Given the description of an element on the screen output the (x, y) to click on. 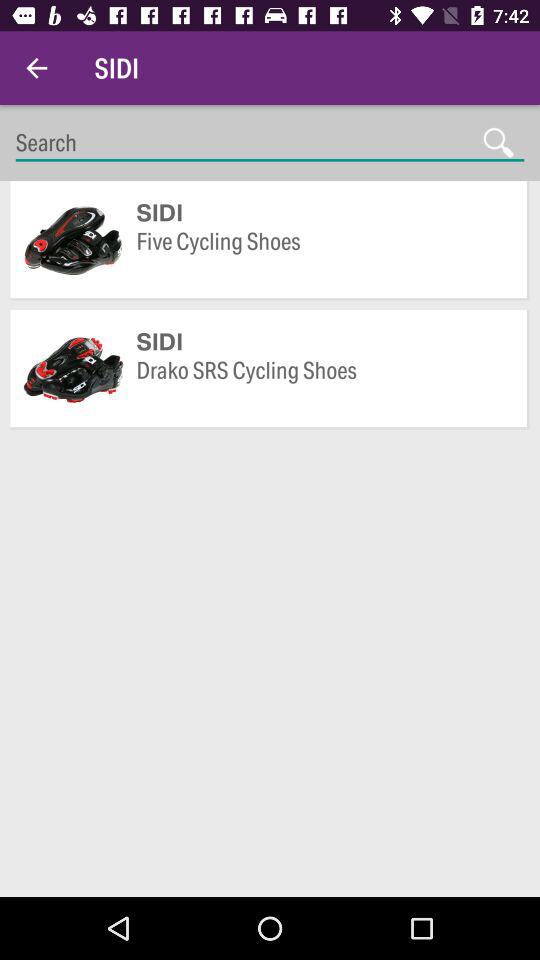
tap item below sidi (322, 385)
